Given the description of an element on the screen output the (x, y) to click on. 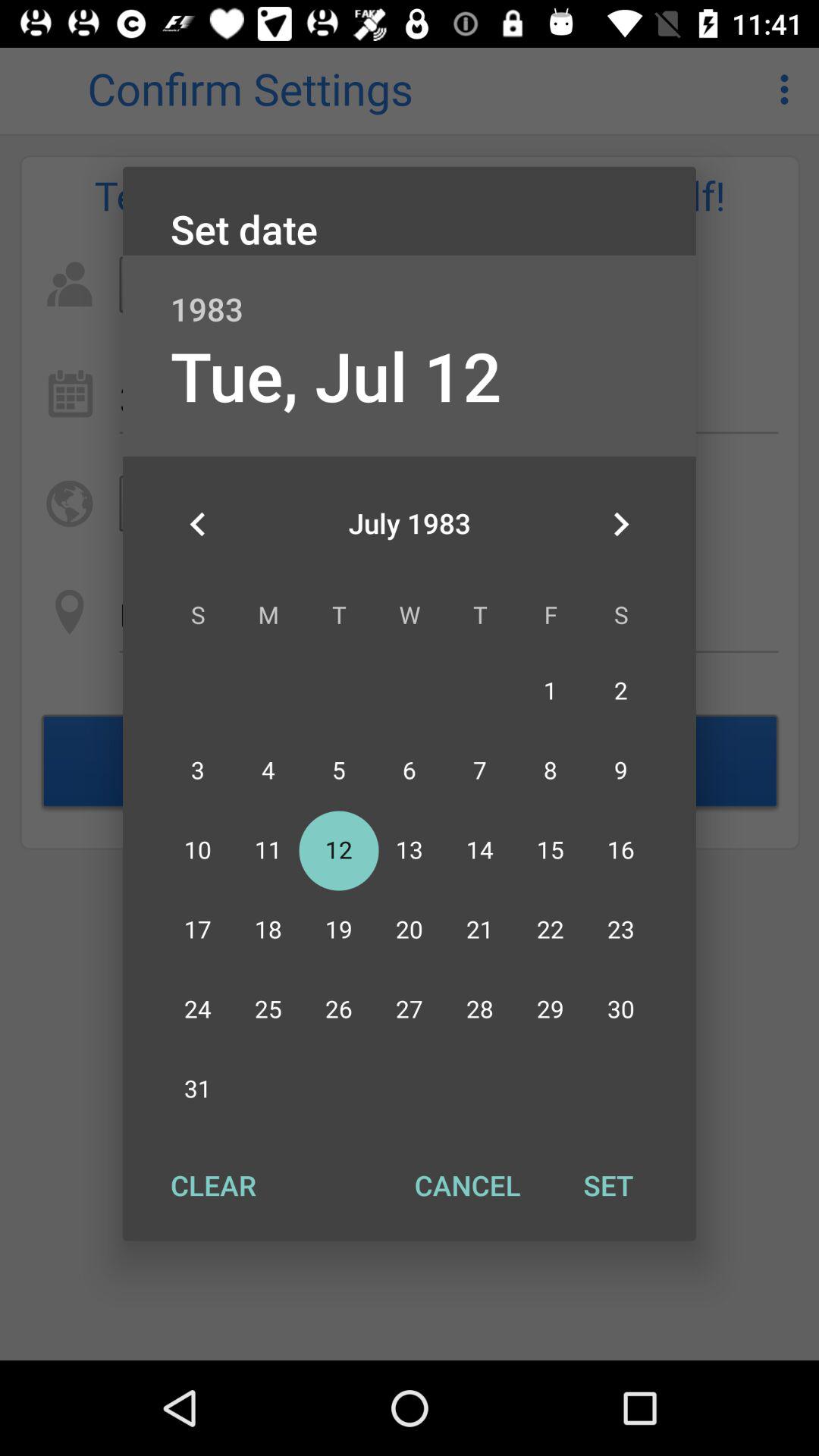
launch item next to the set (467, 1185)
